Given the description of an element on the screen output the (x, y) to click on. 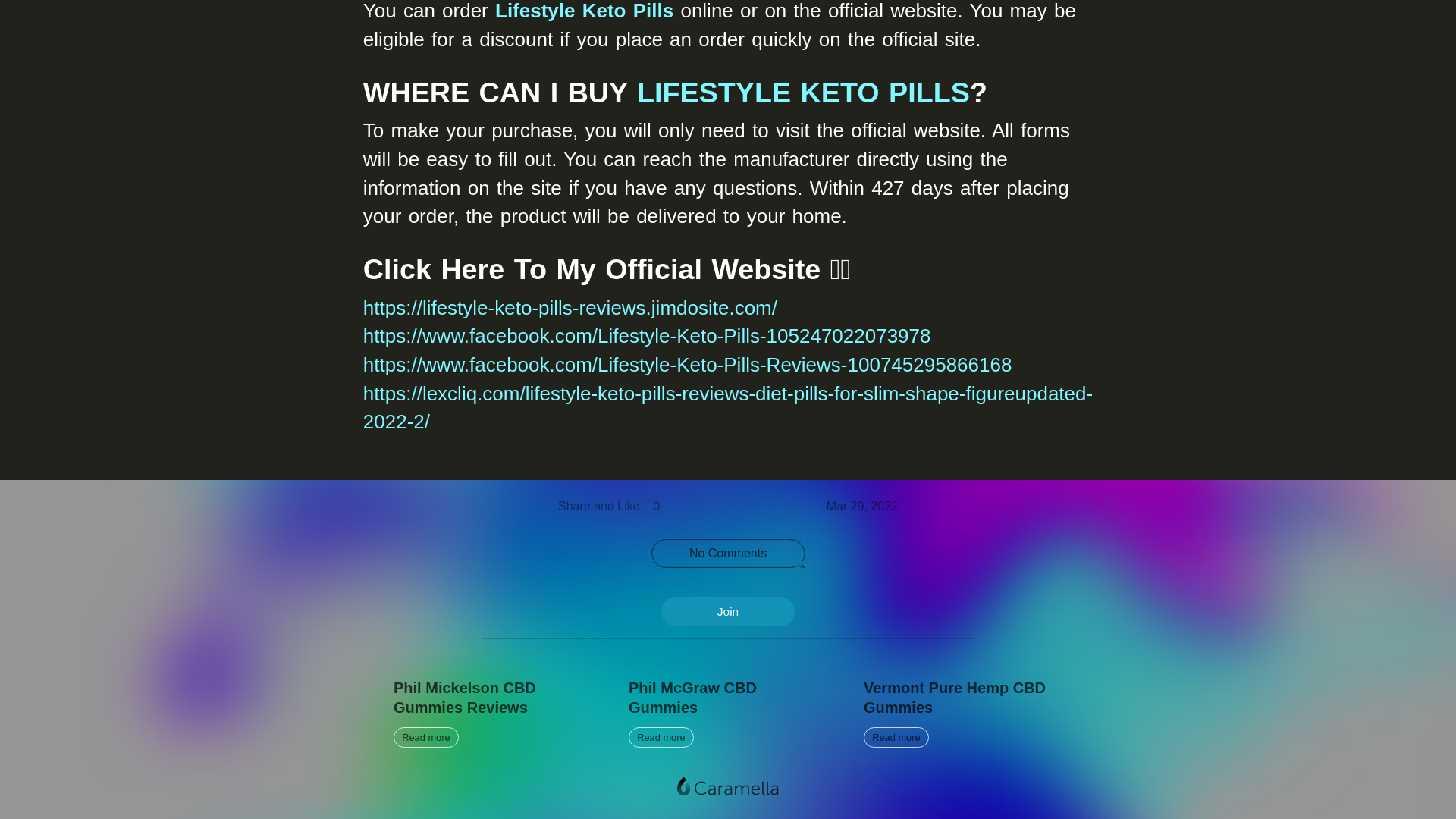
No Comments (728, 553)
Share on Whatsapp (769, 505)
Like this post (492, 712)
Lifestyle Keto Pills (680, 505)
Share on Facebook (583, 11)
Join (740, 505)
LIFESTYLE KETO PILLS (727, 611)
Share on Twitter (962, 712)
